Given the description of an element on the screen output the (x, y) to click on. 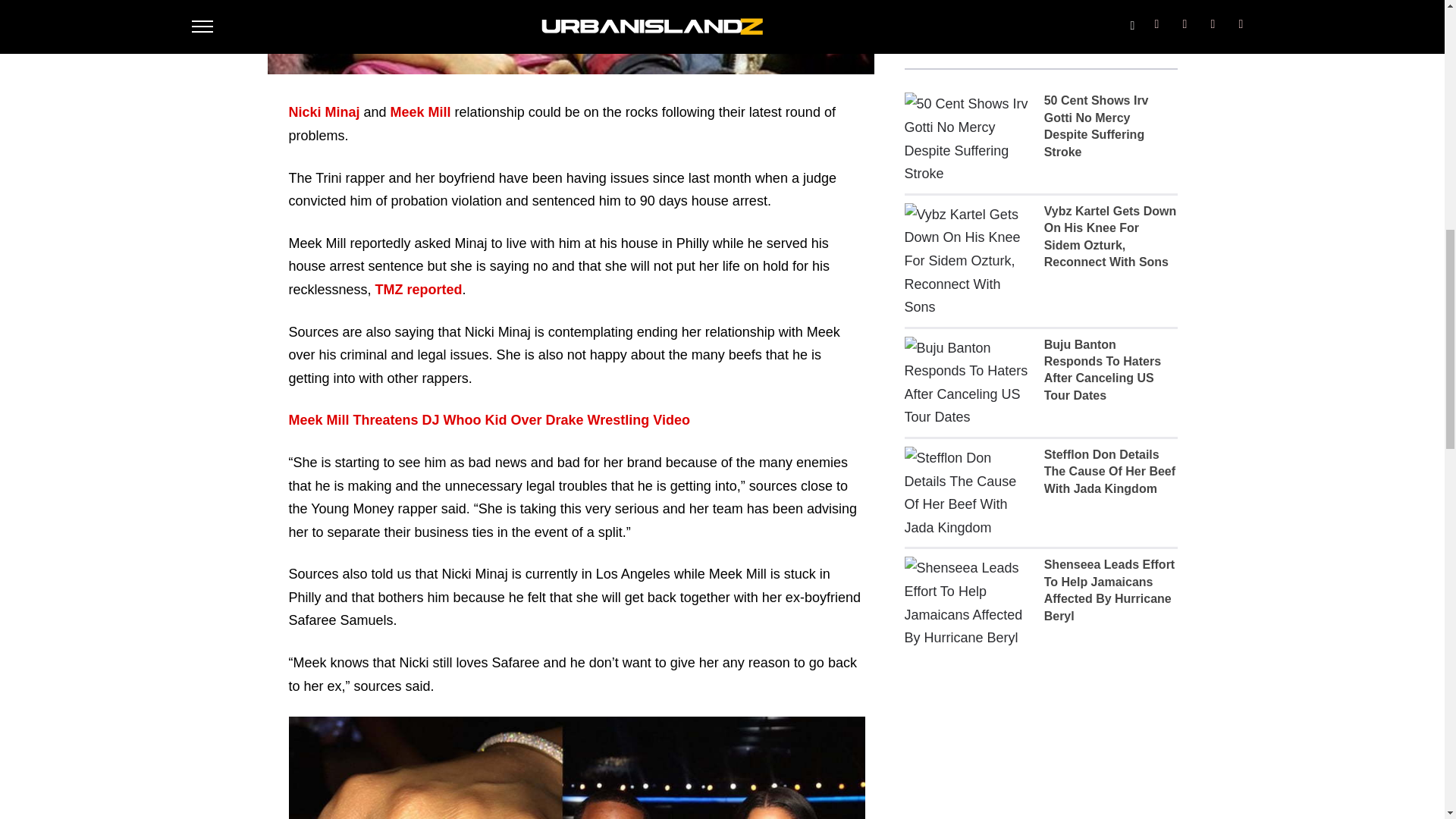
Meek Mill Threatens DJ Whoo Kid Over Drake Wrestling Video (488, 419)
Meek Mill (420, 111)
TMZ reported (419, 289)
Nicki Minaj (323, 111)
